Given the description of an element on the screen output the (x, y) to click on. 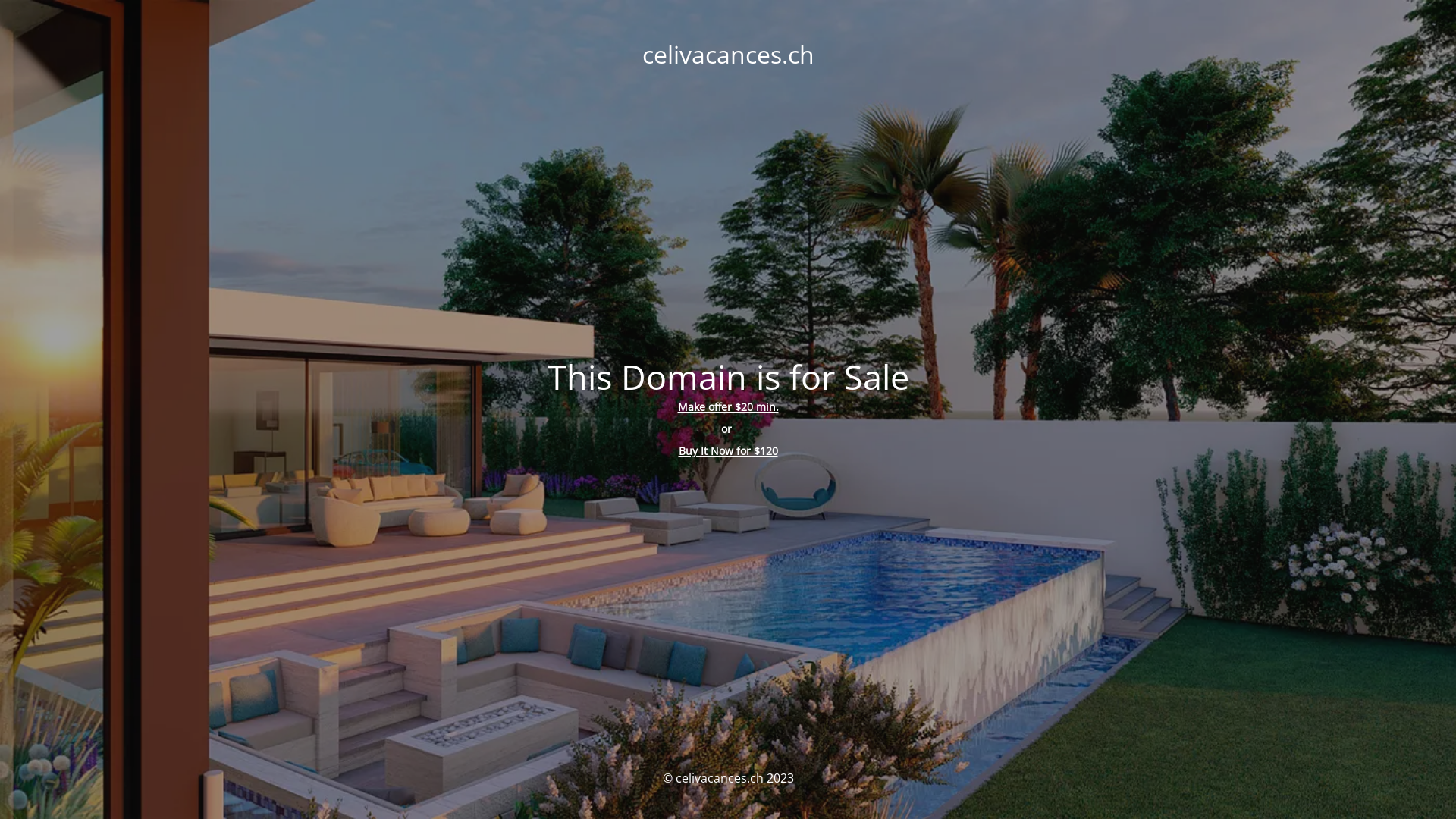
Make offer $20 min. Element type: text (727, 406)
Buy It Now for $120 Element type: text (727, 450)
